Given the description of an element on the screen output the (x, y) to click on. 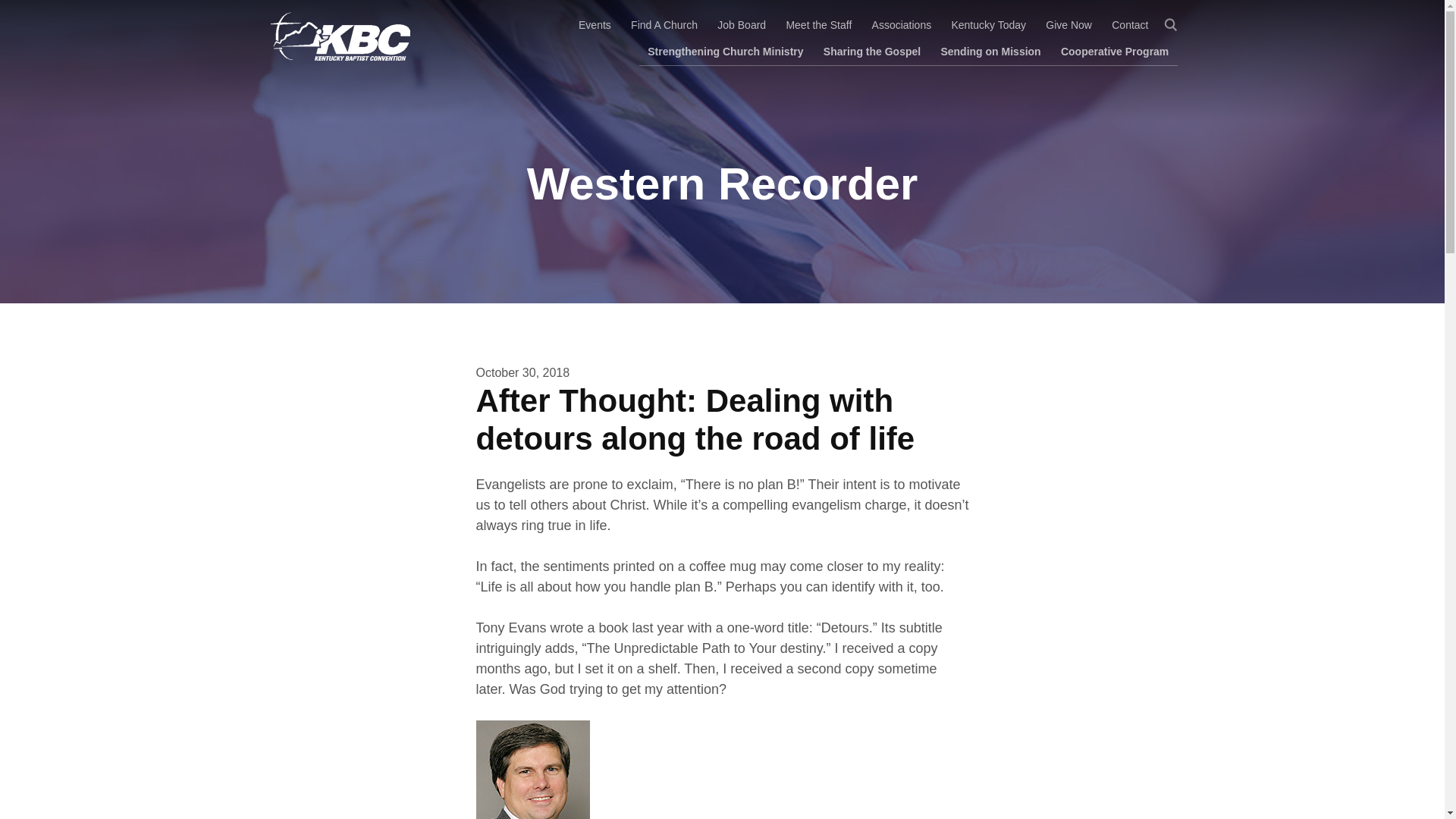
Kentucky Baptist Convention (337, 36)
